Given the description of an element on the screen output the (x, y) to click on. 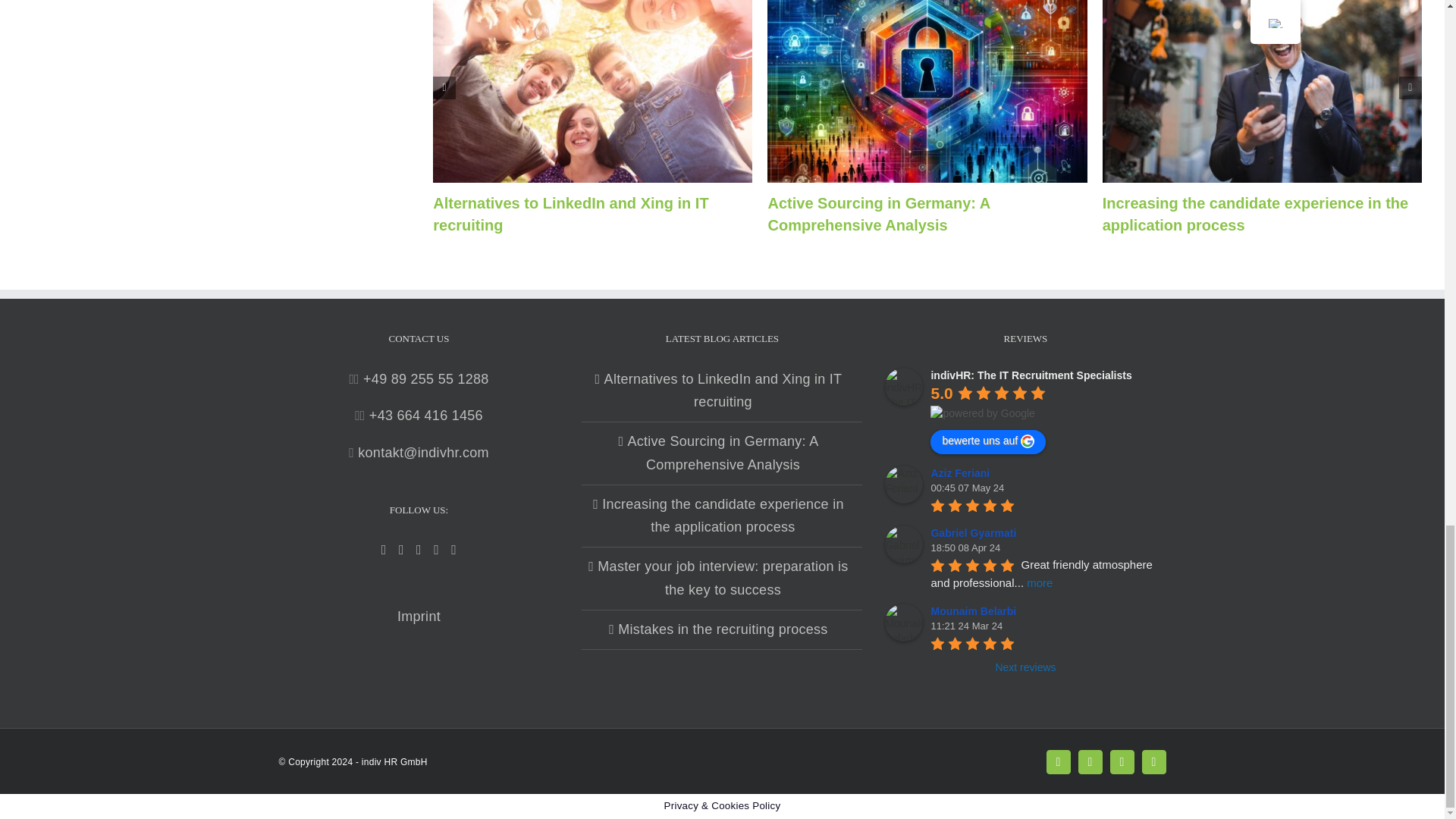
Alternatives to LinkedIn and Xing in IT recruiting (569, 213)
Active Sourcing in Germany: A Comprehensive Analysis (878, 213)
